Given the description of an element on the screen output the (x, y) to click on. 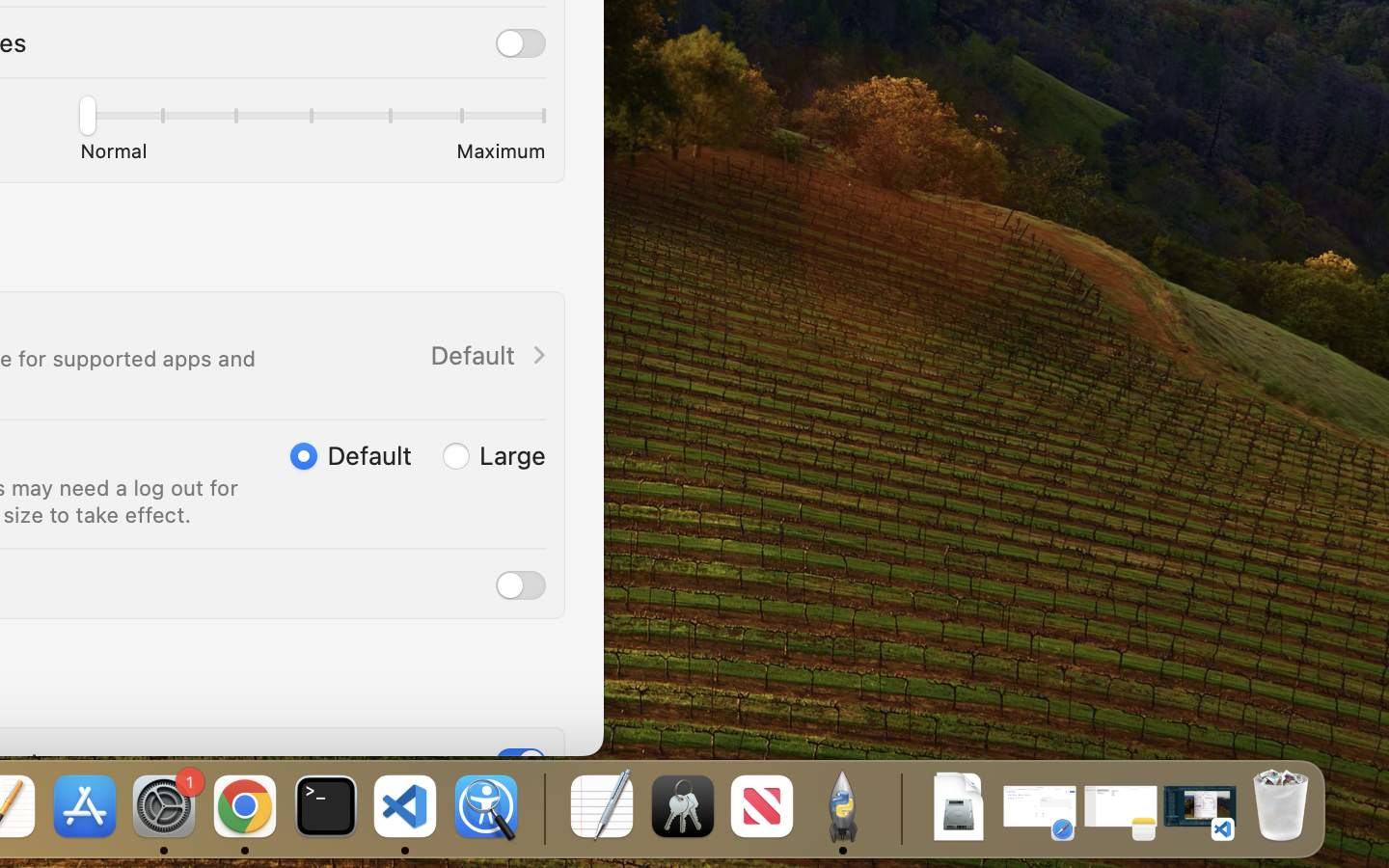
1 Element type: AXCheckBox (520, 762)
